Given the description of an element on the screen output the (x, y) to click on. 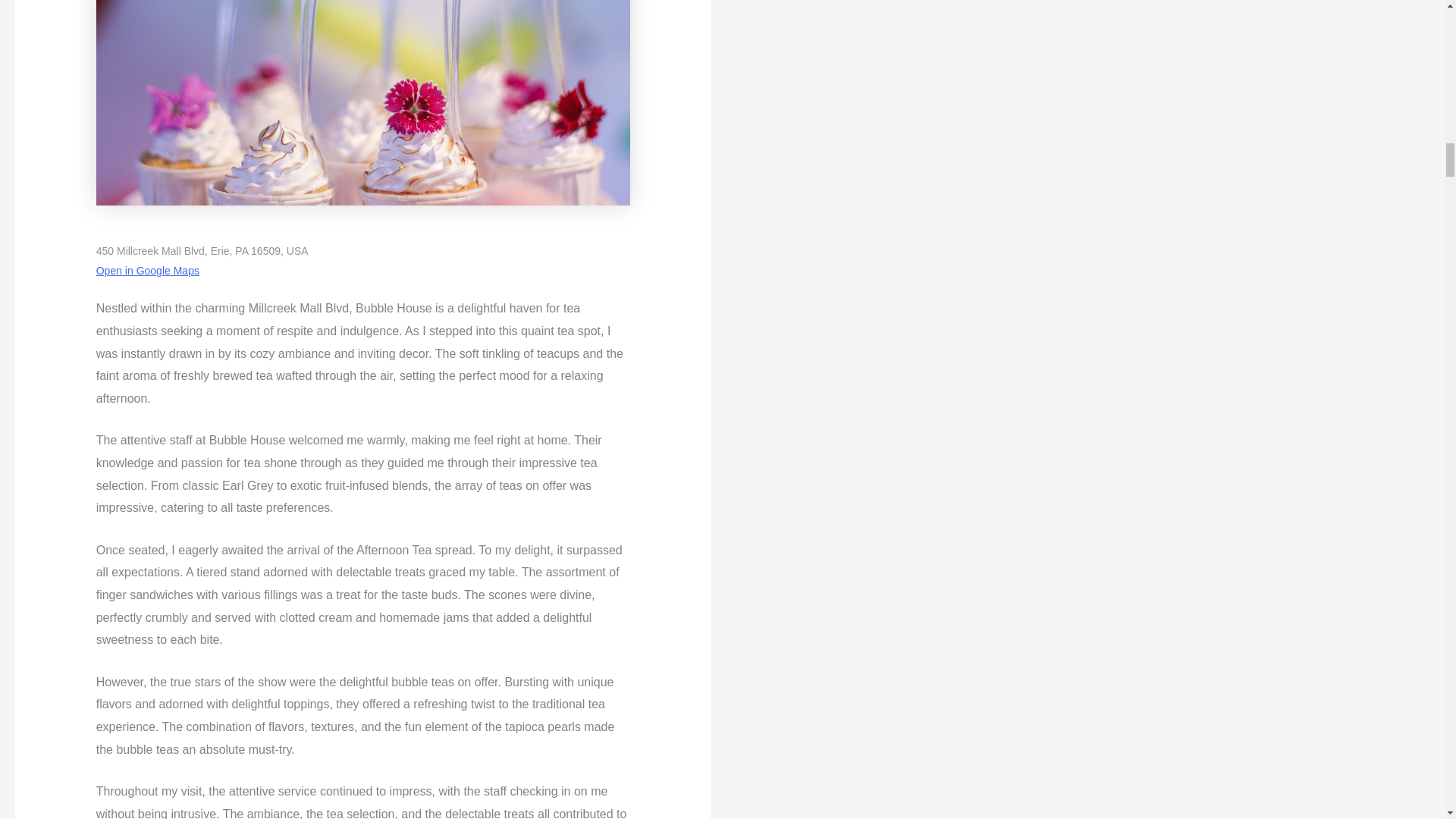
Open in Google Maps (147, 270)
